Given the description of an element on the screen output the (x, y) to click on. 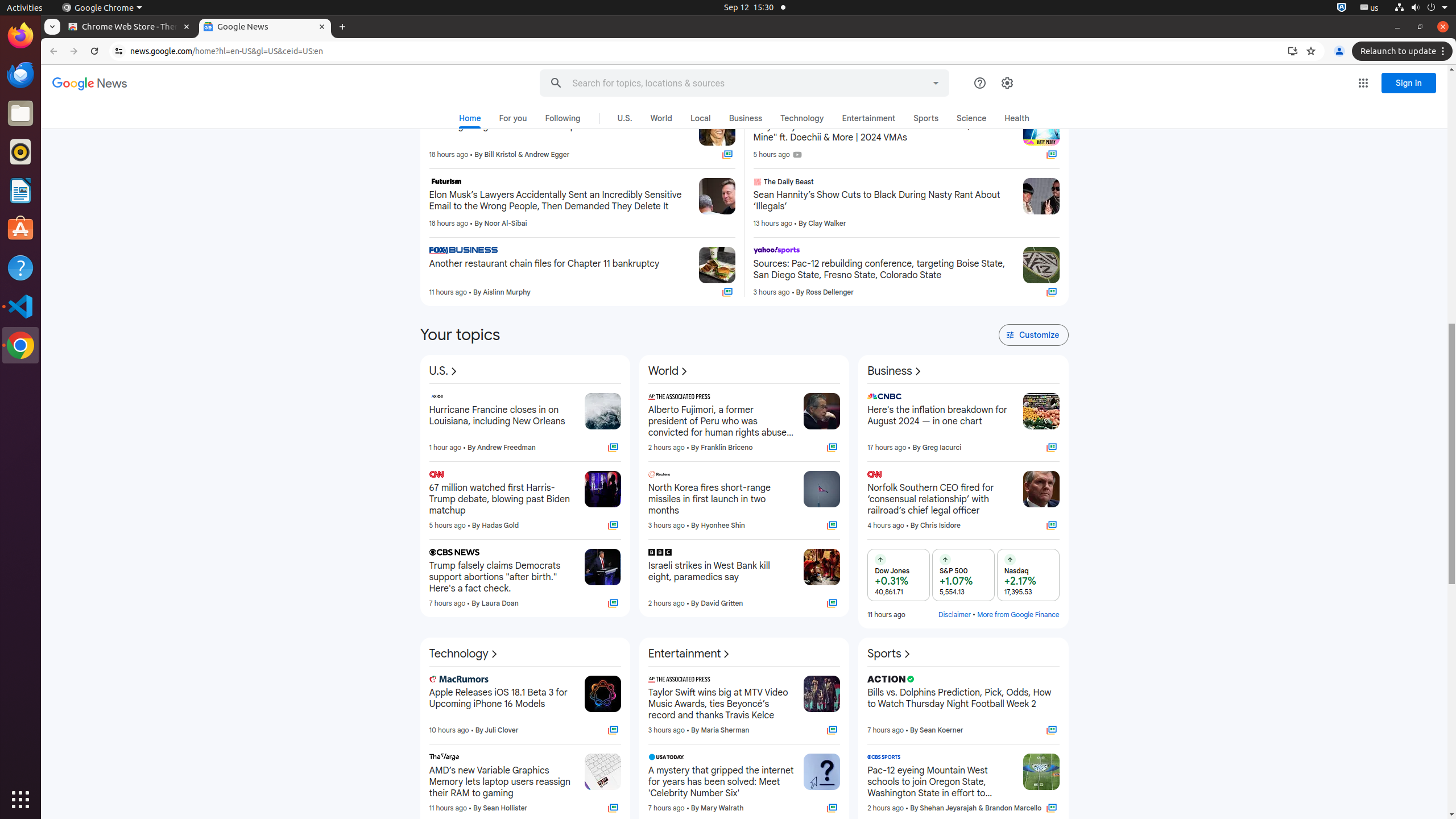
Bookmark this tab Element type: push-button (1310, 51)
Disclaimer Element type: link (954, 614)
67 million watched first Harris-Trump debate, blowing past Biden matchup Element type: link (501, 499)
More from Google Finance Element type: link (1018, 614)
Dow Jones +0.31% 40,861.71 Element type: link (898, 574)
